Given the description of an element on the screen output the (x, y) to click on. 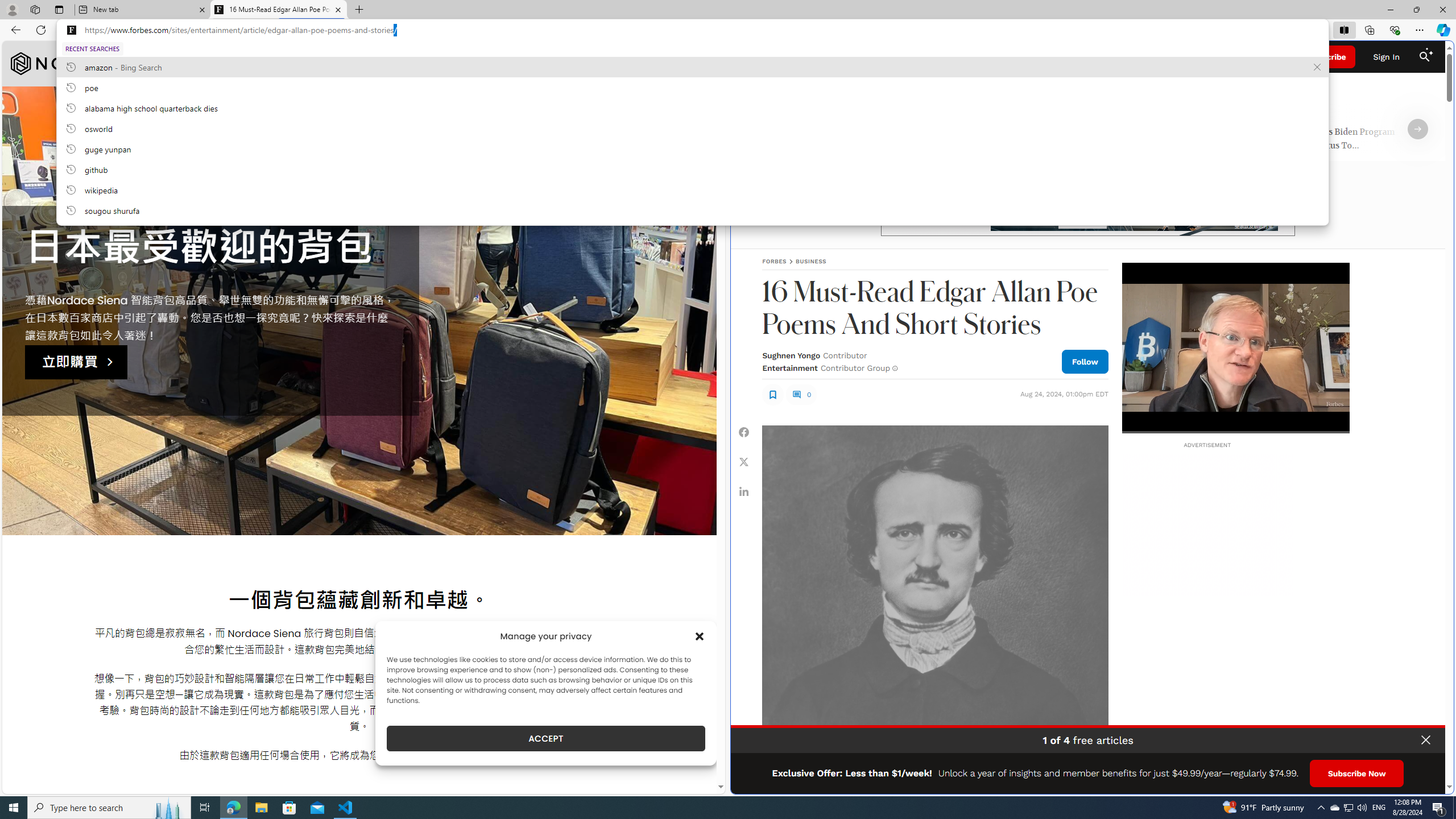
Share Twitter (743, 461)
Entertainment (789, 367)
Sughnen Yongo (790, 354)
Share Facebook (743, 431)
Forbes Logo (1088, 56)
Class: cmplz-close (699, 636)
